Given the description of an element on the screen output the (x, y) to click on. 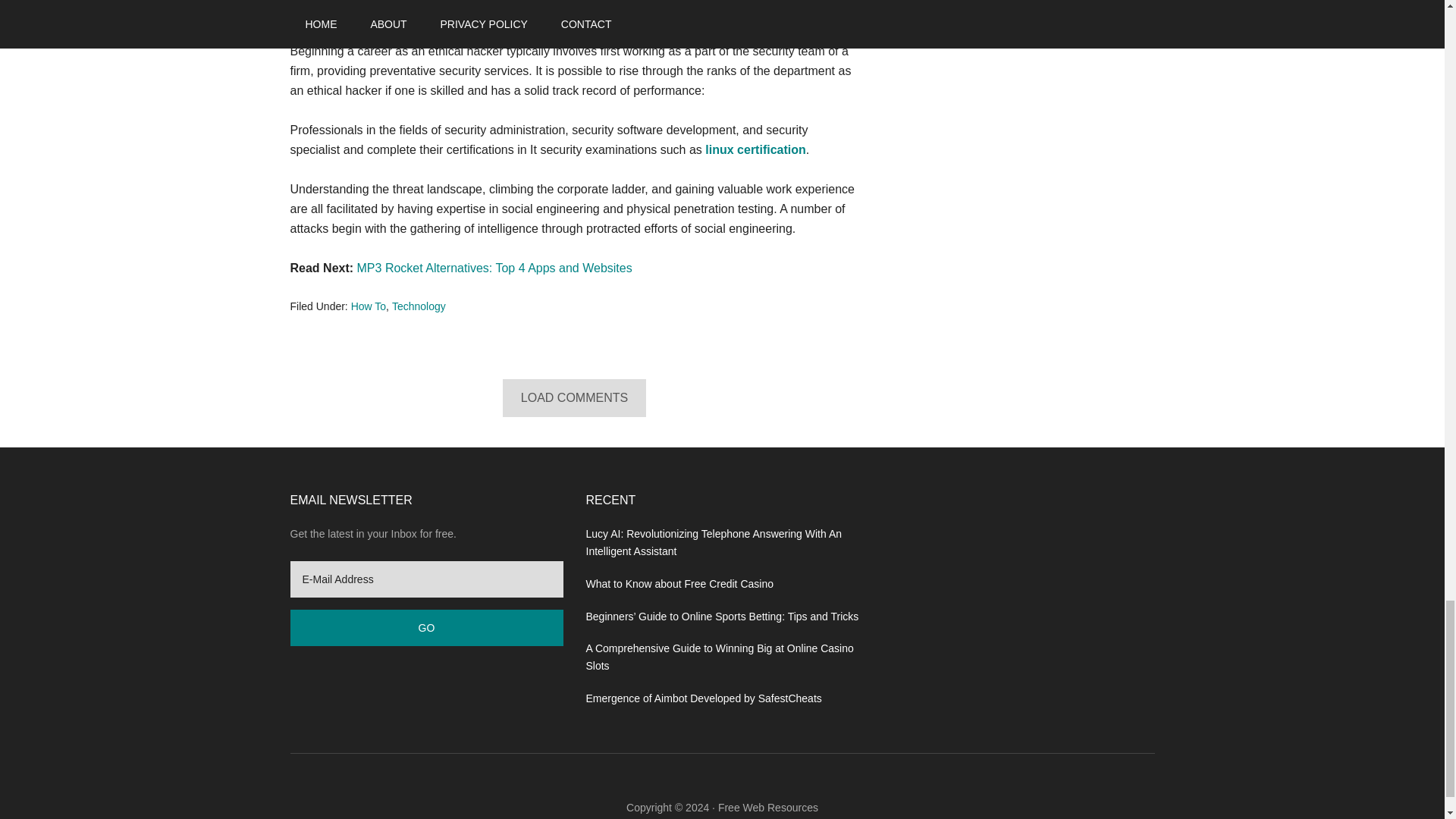
MP3 Rocket Alternatives: Top 4 Apps and Websites (493, 267)
Go (425, 627)
Technology (418, 306)
linux certification (754, 149)
How To (367, 306)
LOAD COMMENTS (574, 397)
